Given the description of an element on the screen output the (x, y) to click on. 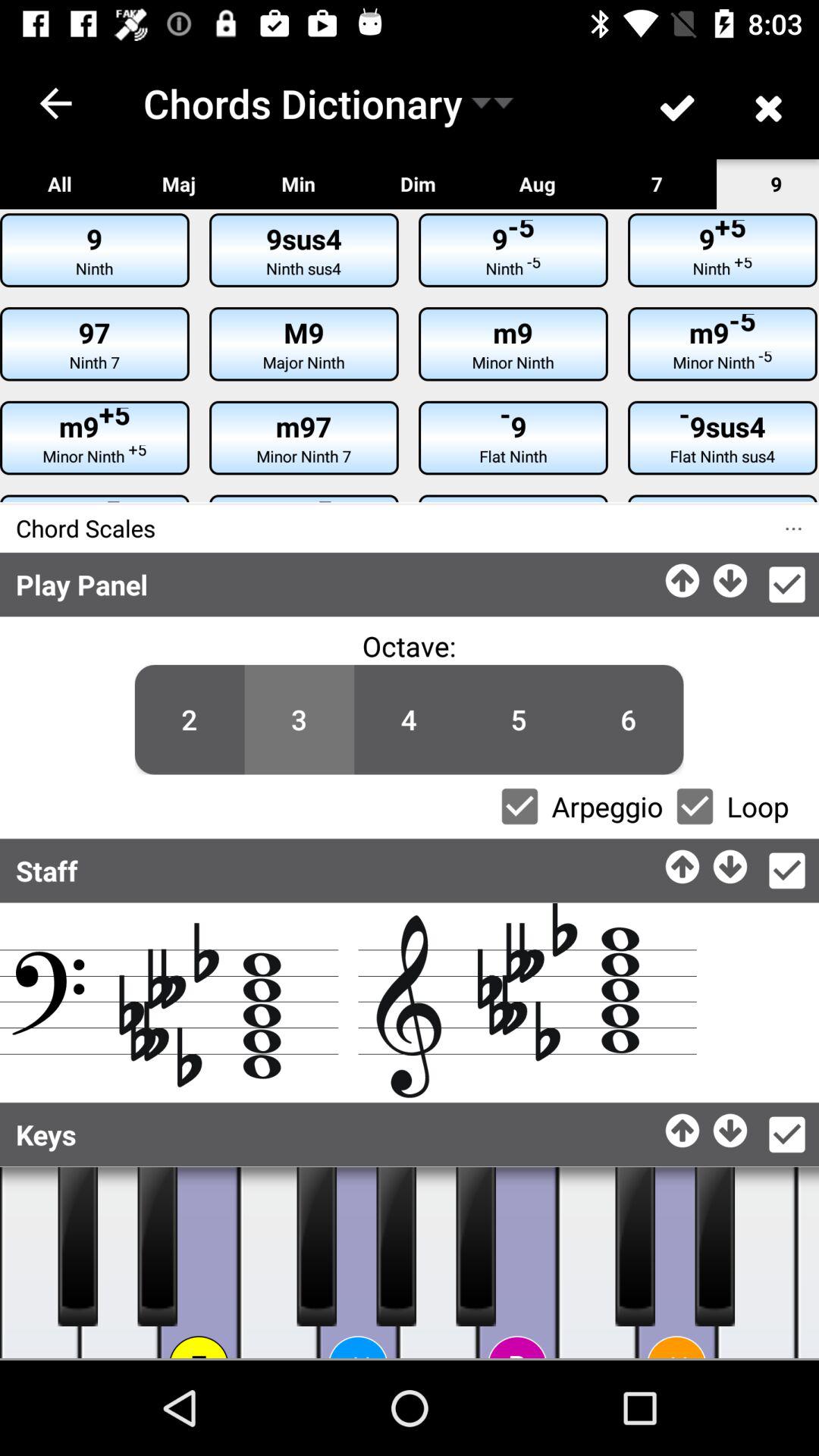
button to loop option (694, 806)
